Given the description of an element on the screen output the (x, y) to click on. 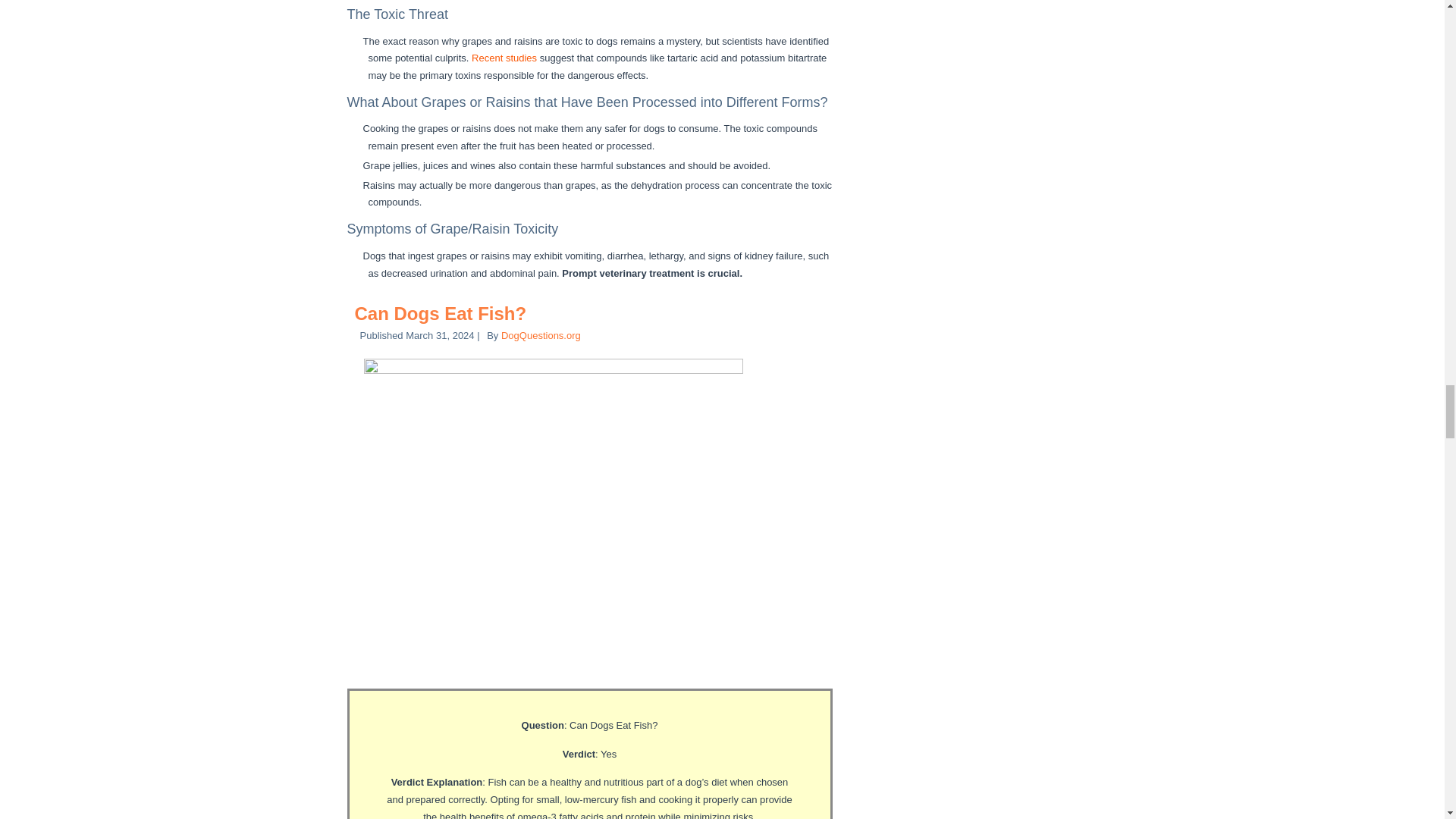
DogQuestions.org (540, 335)
Recent studies (504, 57)
Can Dogs Eat Fish? (441, 313)
